Given the description of an element on the screen output the (x, y) to click on. 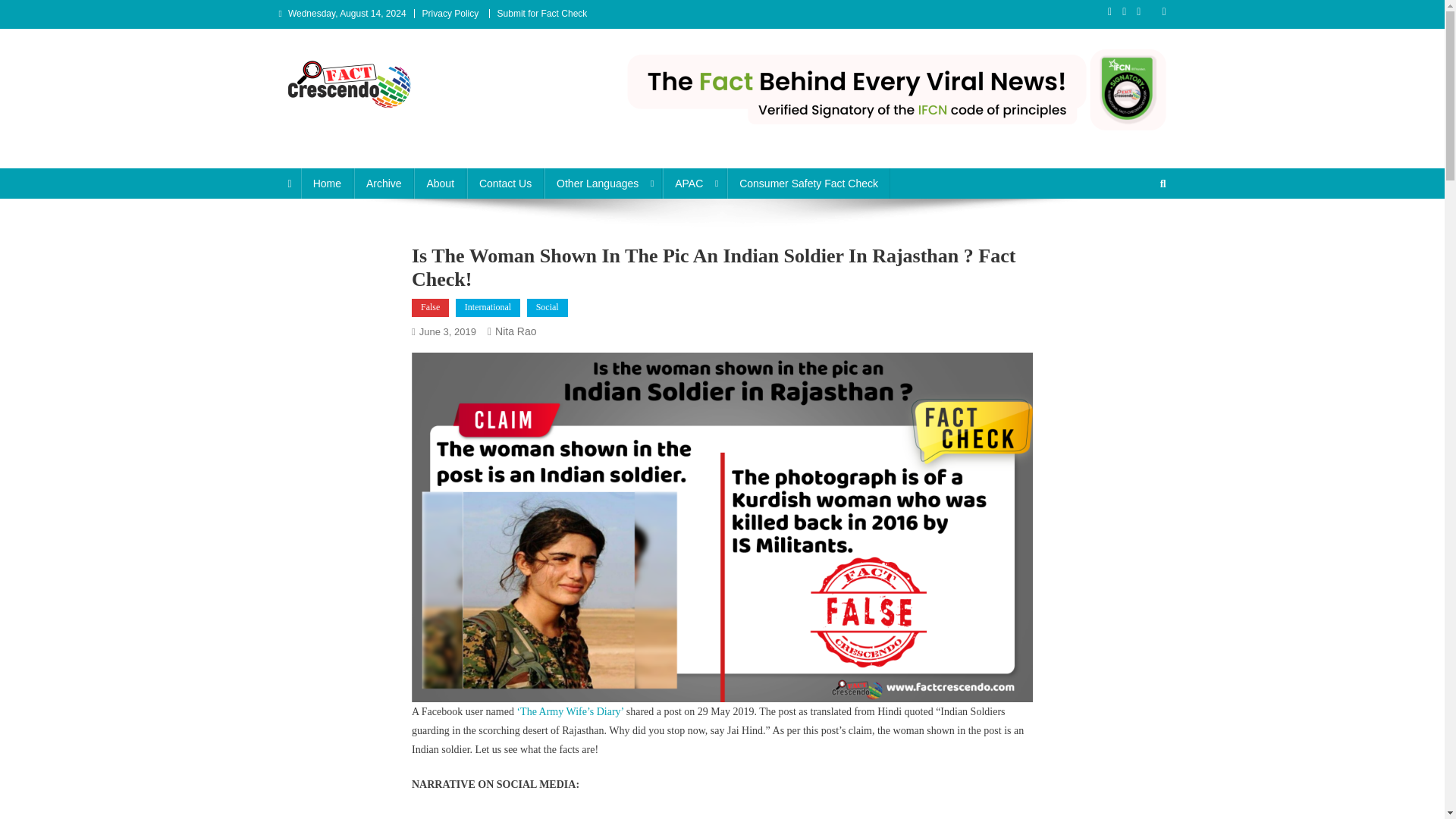
Consumer Safety Fact Check (807, 183)
June 3, 2019 (447, 331)
Social (547, 307)
International (487, 307)
Home (327, 183)
Archive (383, 183)
About (439, 183)
APAC (694, 183)
Submit for Fact Check (542, 13)
Search (1133, 234)
